Given the description of an element on the screen output the (x, y) to click on. 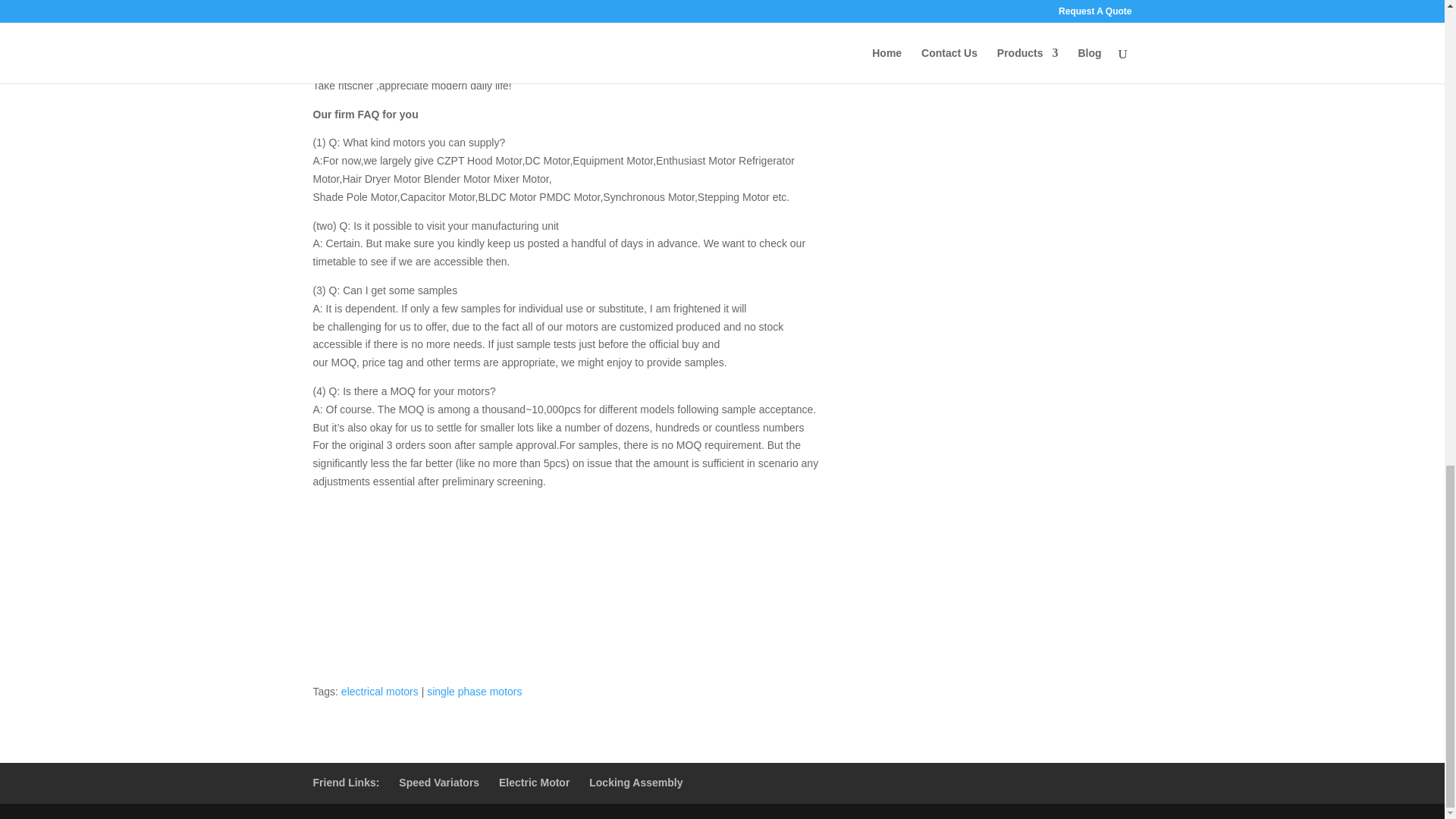
single phase motors (473, 691)
Speed Variators (438, 782)
electrical motors (379, 691)
Friend Links: (345, 782)
